Given the description of an element on the screen output the (x, y) to click on. 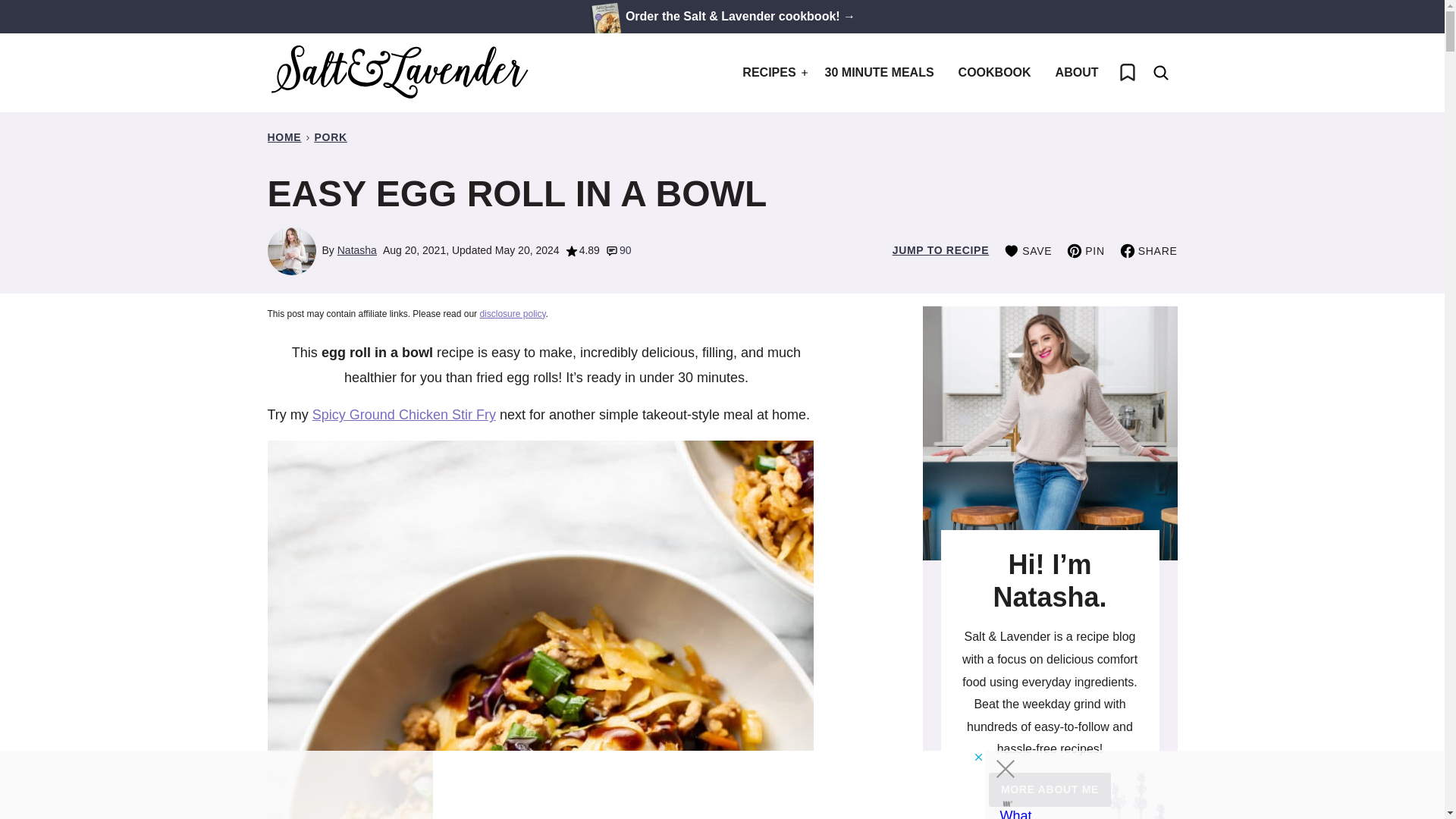
My Favorites (1125, 72)
Share on Pinterest (1085, 250)
RECIPES (771, 72)
PIN (1085, 250)
3rd party ad content (708, 785)
COOKBOOK (994, 72)
PORK (330, 137)
90 (618, 250)
SAVE (1027, 250)
30 MINUTE MEALS (879, 72)
disclosure policy (511, 313)
SHARE (1148, 250)
Natasha (357, 250)
JUMP TO RECIPE (941, 250)
HOME (283, 137)
